Given the description of an element on the screen output the (x, y) to click on. 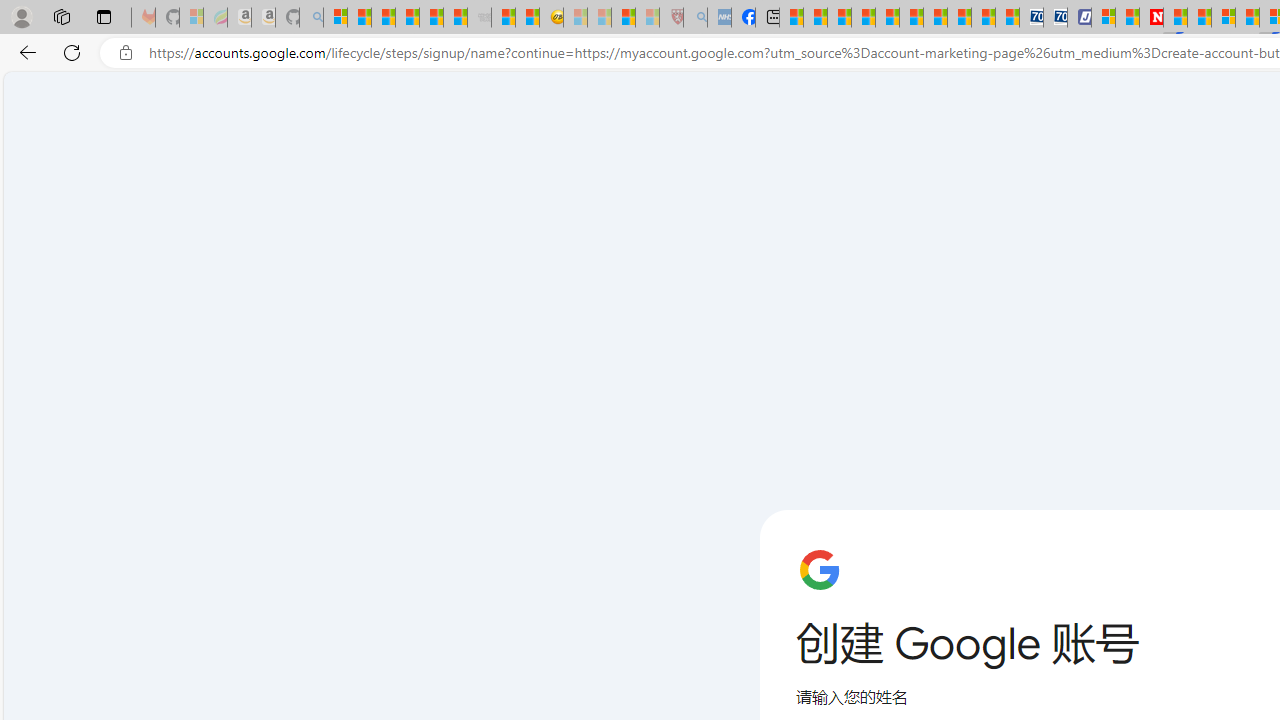
Recipes - MSN - Sleeping (575, 17)
Combat Siege - Sleeping (479, 17)
Climate Damage Becomes Too Severe To Reverse (863, 17)
Cheap Car Rentals - Save70.com (1031, 17)
Cheap Hotels - Save70.com (1055, 17)
Science - MSN (622, 17)
14 Common Myths Debunked By Scientific Facts (1198, 17)
